Given the description of an element on the screen output the (x, y) to click on. 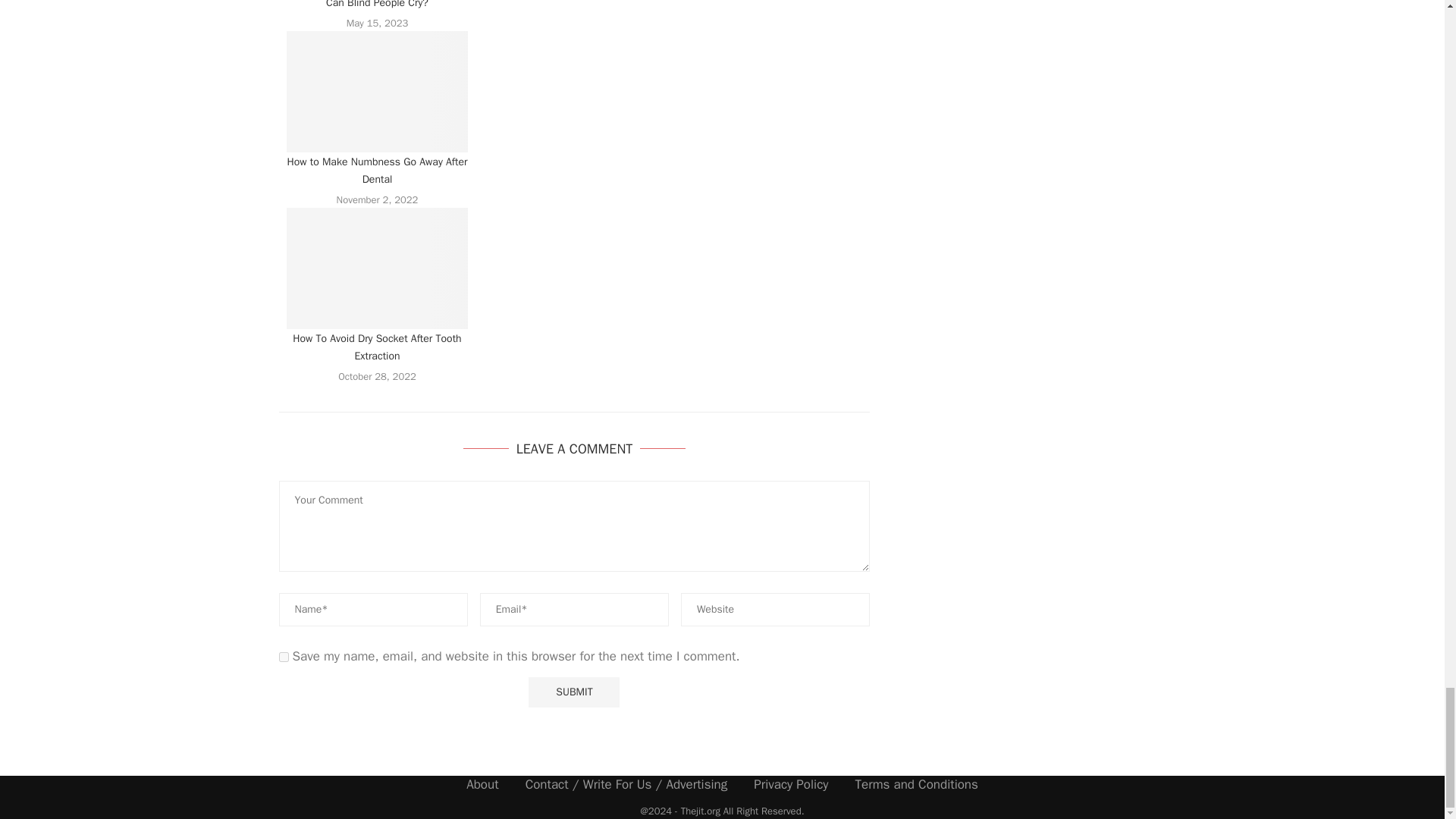
How to Make Numbness Go Away After Dental (377, 91)
Submit (574, 692)
yes (283, 656)
How To Avoid Dry Socket After Tooth Extraction (377, 268)
